Given the description of an element on the screen output the (x, y) to click on. 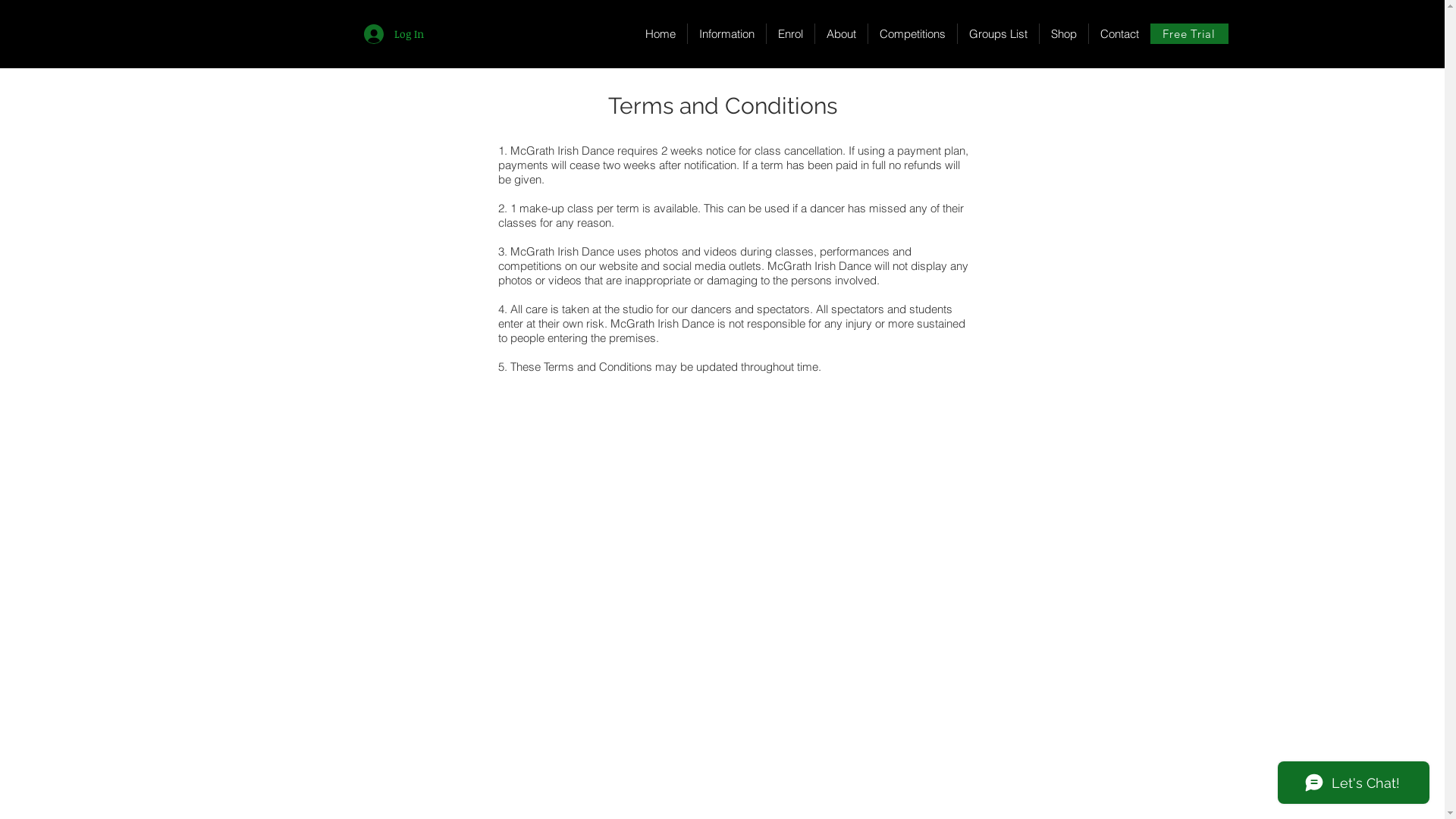
About Element type: text (840, 33)
Home Element type: text (660, 33)
TWIPLA (Visitor Analytics) Element type: hover (1442, 4)
Free Trial Element type: text (1188, 33)
Log In Element type: text (393, 33)
Shop Element type: text (1063, 33)
Information Element type: text (726, 33)
Enrol Element type: text (789, 33)
Contact Element type: text (1118, 33)
Competitions Element type: text (912, 33)
Groups List Element type: text (997, 33)
